Given the description of an element on the screen output the (x, y) to click on. 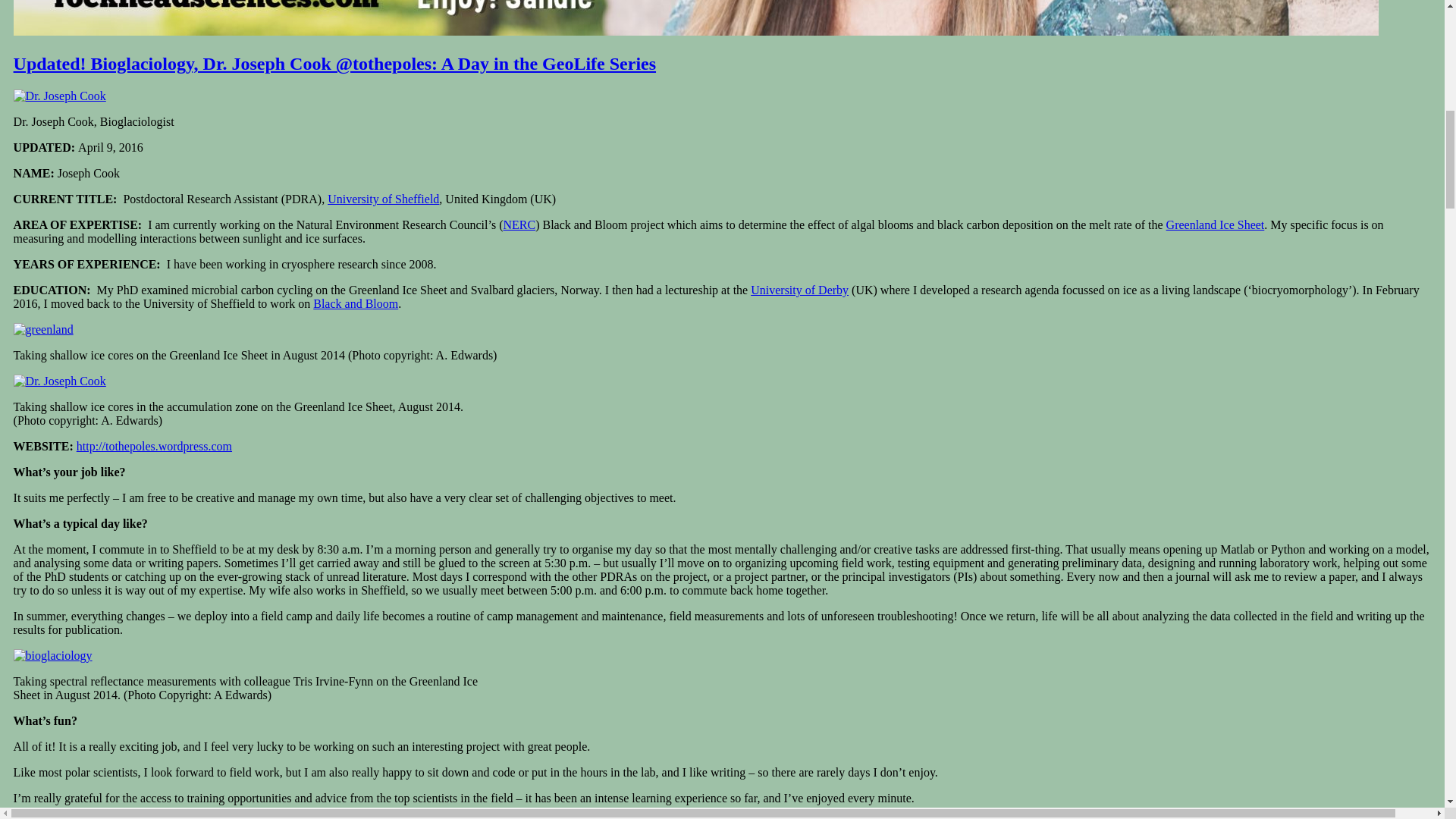
NERC (518, 224)
Black and Bloom (355, 303)
University of Sheffield (383, 198)
University of Derby (799, 289)
Greenland Ice Sheet (1215, 224)
